Given the description of an element on the screen output the (x, y) to click on. 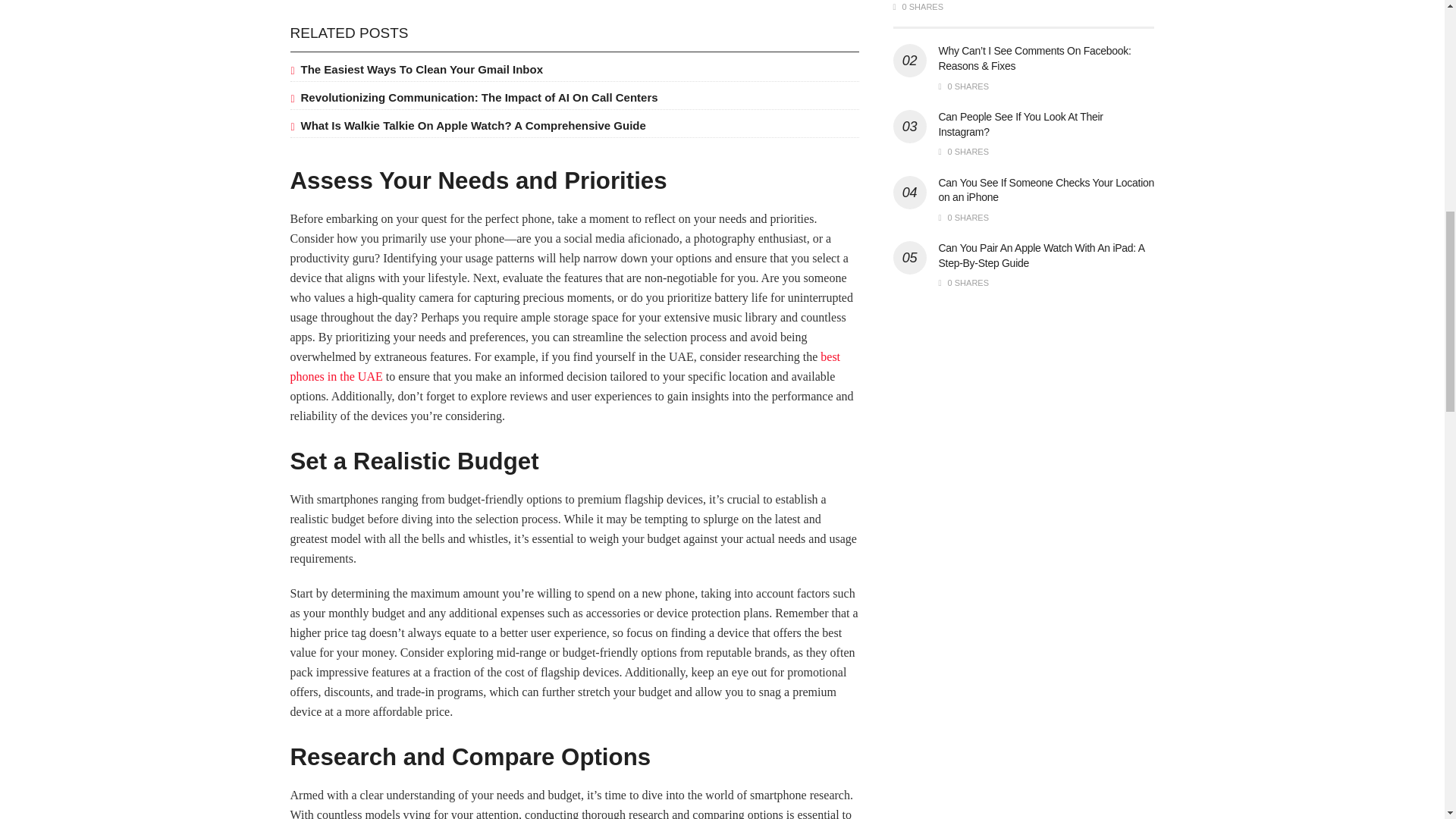
What Is Walkie Talkie On Apple Watch? A Comprehensive Guide (472, 124)
best phones in the UAE (564, 366)
The Easiest Ways To Clean Your Gmail Inbox (421, 69)
